Given the description of an element on the screen output the (x, y) to click on. 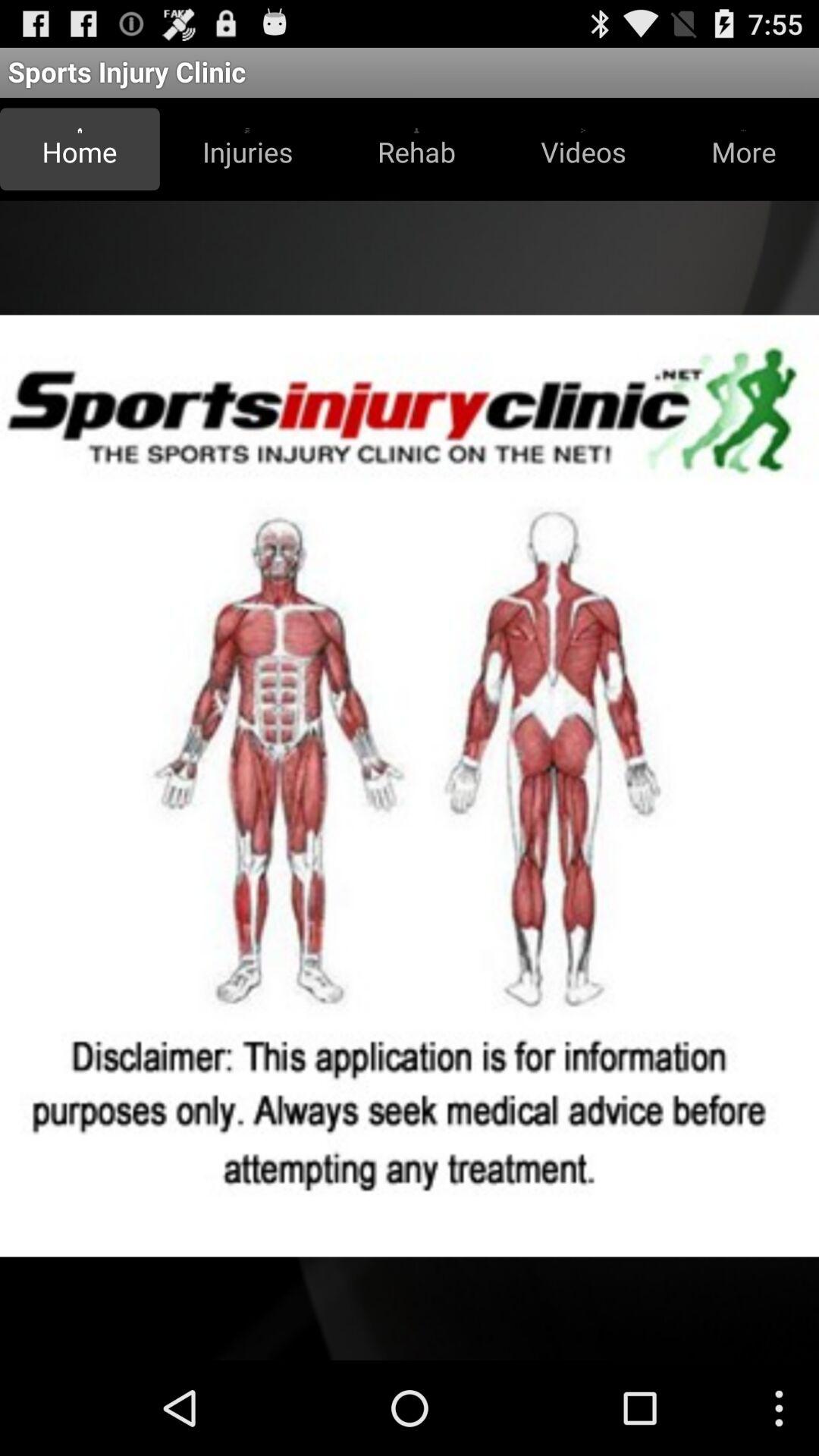
tap the icon next to injuries item (416, 149)
